Given the description of an element on the screen output the (x, y) to click on. 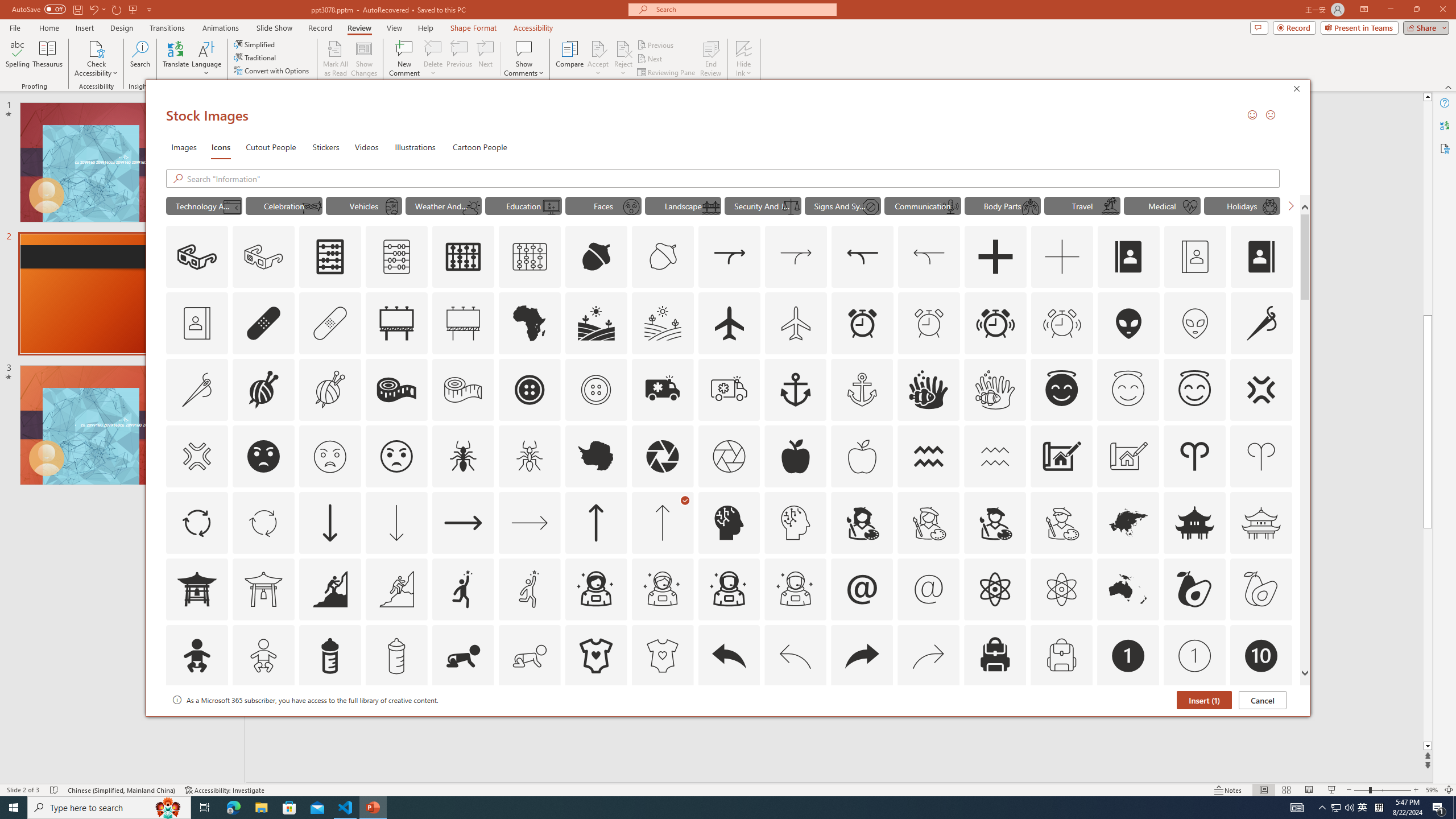
"Weather And Seasons" Icons. (443, 205)
AutomationID: Icons_Ambulance_M (729, 389)
AutomationID: Icons_Acquisition_RTL (863, 256)
AutomationID: Icons_Australia (1128, 588)
AutomationID: Icons_TropicalScene_M (1110, 206)
AutomationID: Icons_Aries_M (1260, 455)
